Given the description of an element on the screen output the (x, y) to click on. 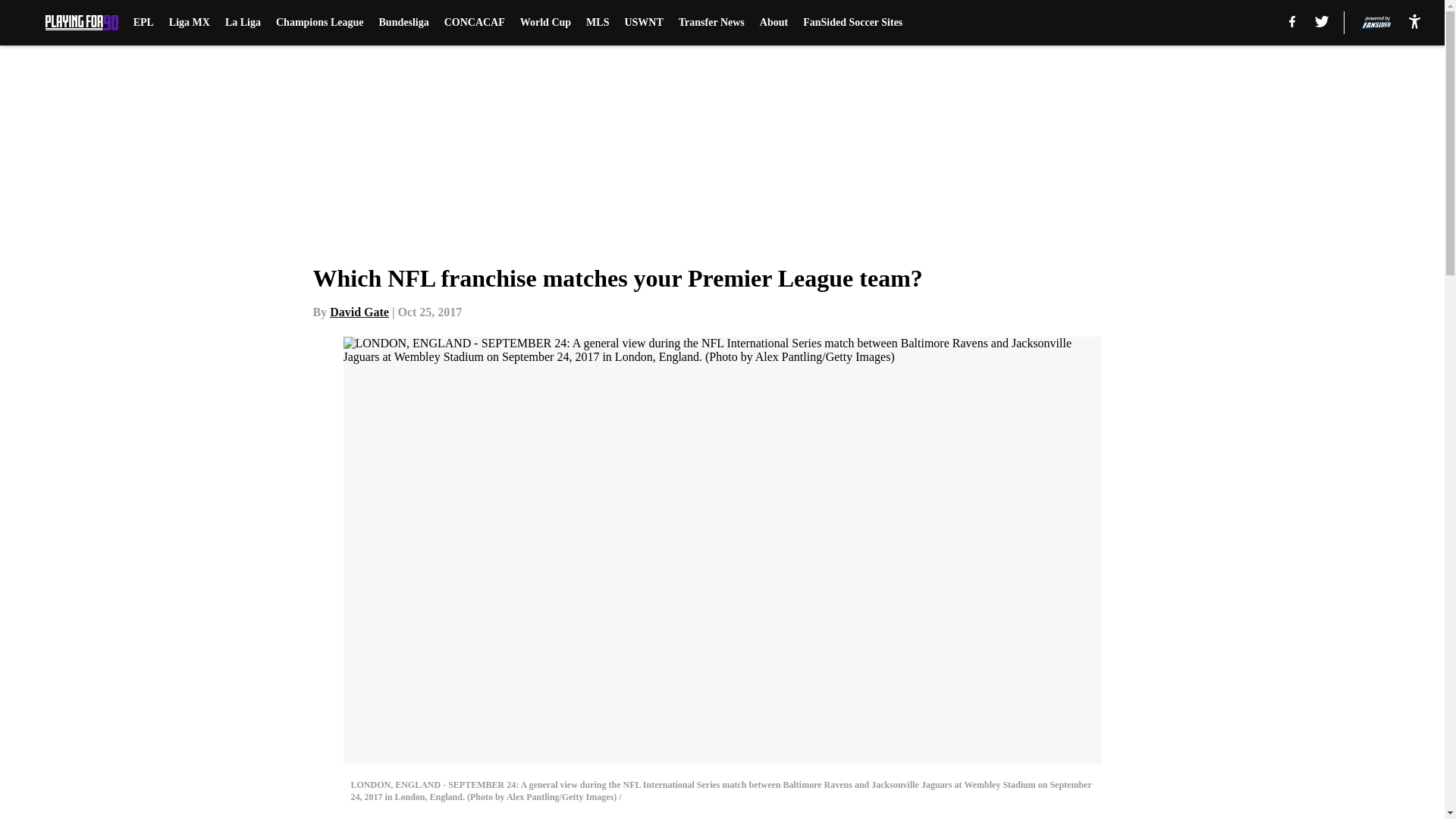
La Liga (242, 22)
David Gate (359, 311)
Bundesliga (403, 22)
FanSided Soccer Sites (852, 22)
USWNT (643, 22)
World Cup (544, 22)
EPL (143, 22)
About (773, 22)
Champions League (320, 22)
MLS (597, 22)
Liga MX (188, 22)
CONCACAF (474, 22)
Transfer News (711, 22)
